Given the description of an element on the screen output the (x, y) to click on. 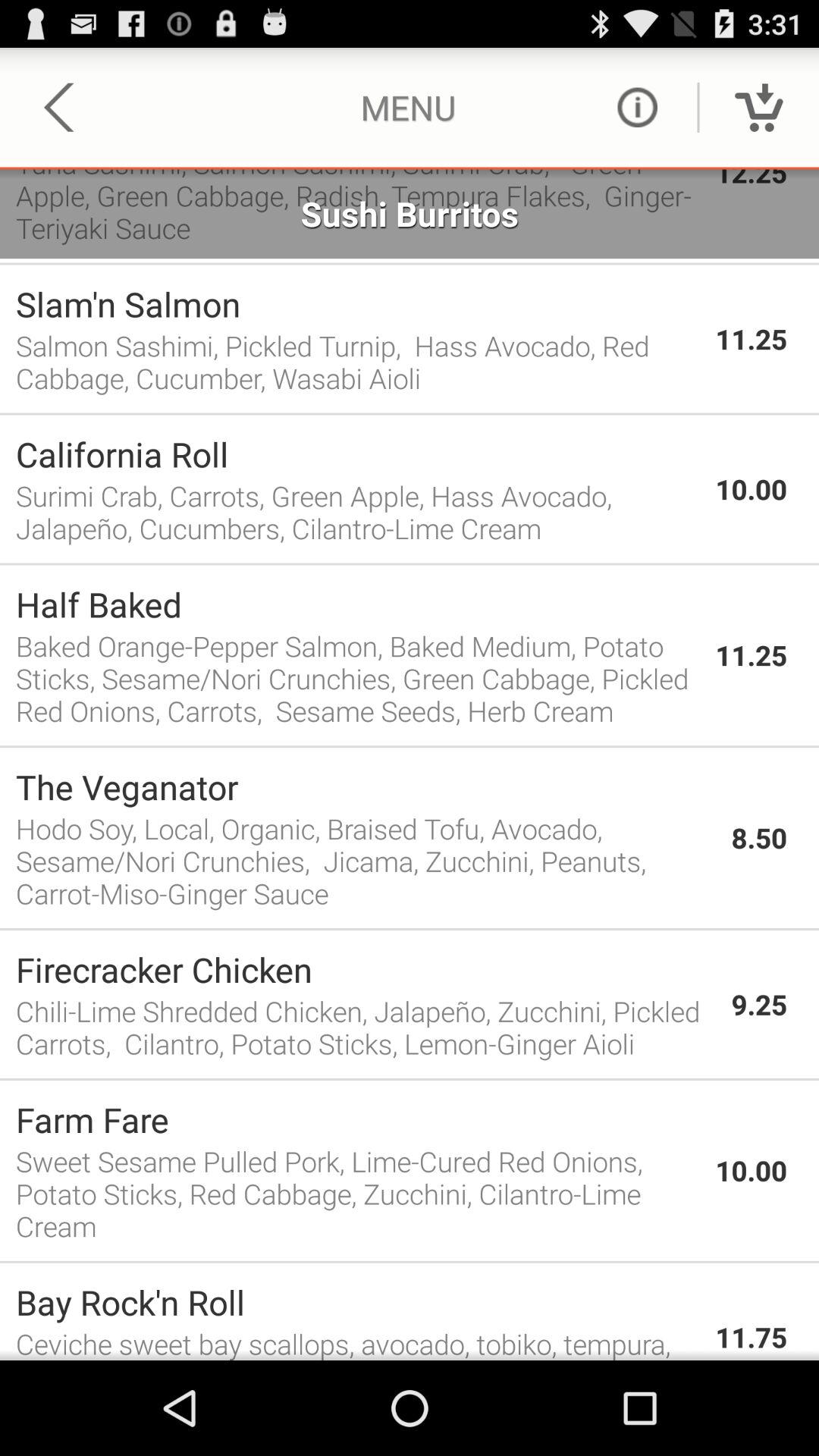
launch the app to the left of 11.75 (357, 1342)
